Given the description of an element on the screen output the (x, y) to click on. 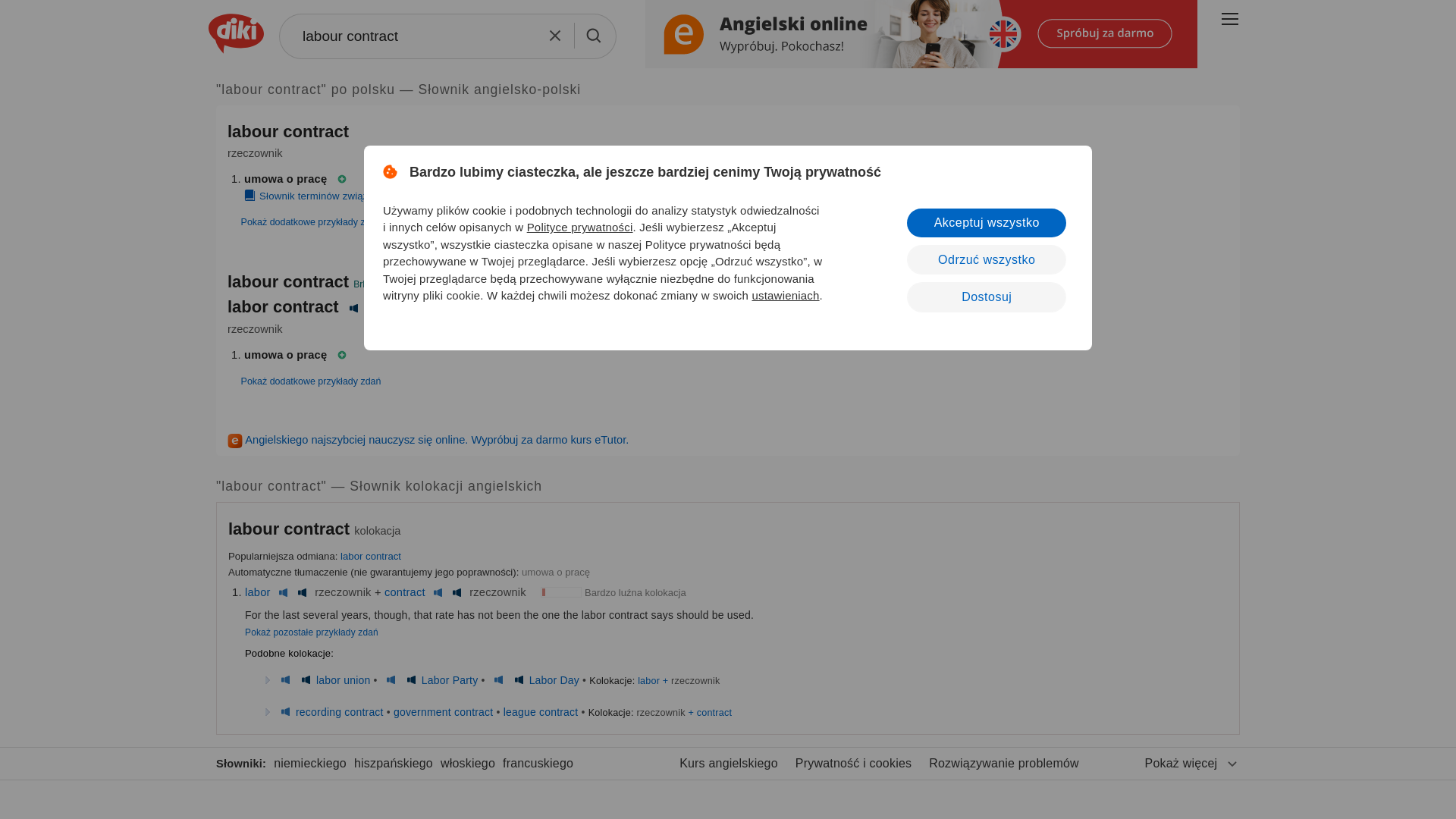
American English (353, 308)
American English (305, 680)
British English (390, 680)
BrE (360, 284)
American English (455, 592)
American English (518, 680)
labor (257, 592)
Labor Party (450, 680)
British English (497, 680)
British English (437, 592)
Labor Day (554, 680)
British English (285, 680)
Uwaga: kolokacja wygenerowana automatycznie. (290, 528)
British English (282, 592)
contract (404, 592)
